Given the description of an element on the screen output the (x, y) to click on. 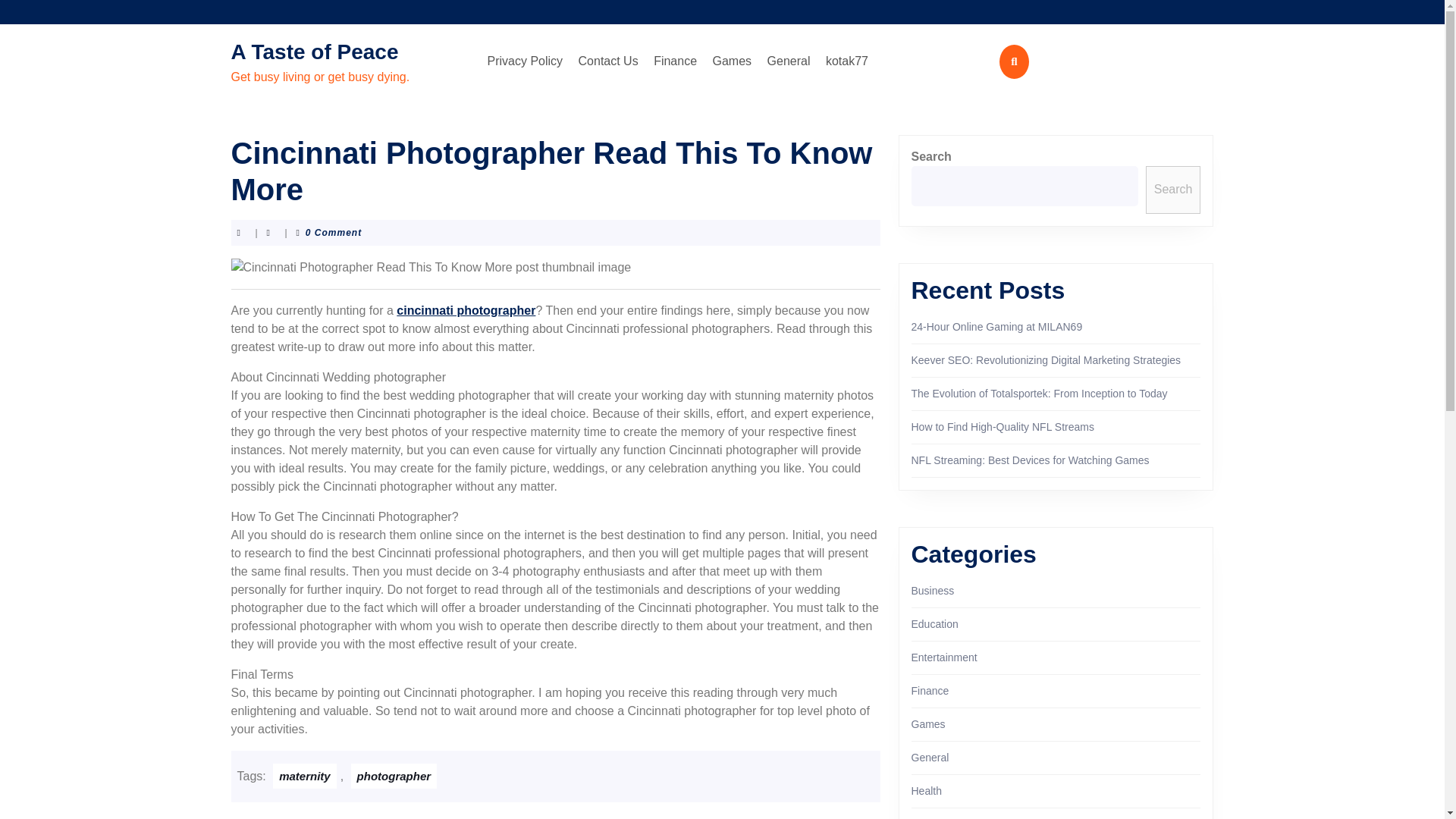
Games (732, 60)
The Evolution of Totalsportek: From Inception to Today (1039, 393)
photographer (394, 775)
Health (926, 790)
General (930, 757)
cincinnati photographer (465, 309)
Finance (675, 60)
maternity (304, 775)
How to Find High-Quality NFL Streams (1002, 426)
Privacy Policy (524, 60)
Business (933, 590)
24-Hour Online Gaming at MILAN69 (997, 326)
A Taste of Peace (313, 51)
Keever SEO: Revolutionizing Digital Marketing Strategies (1045, 359)
